Given the description of an element on the screen output the (x, y) to click on. 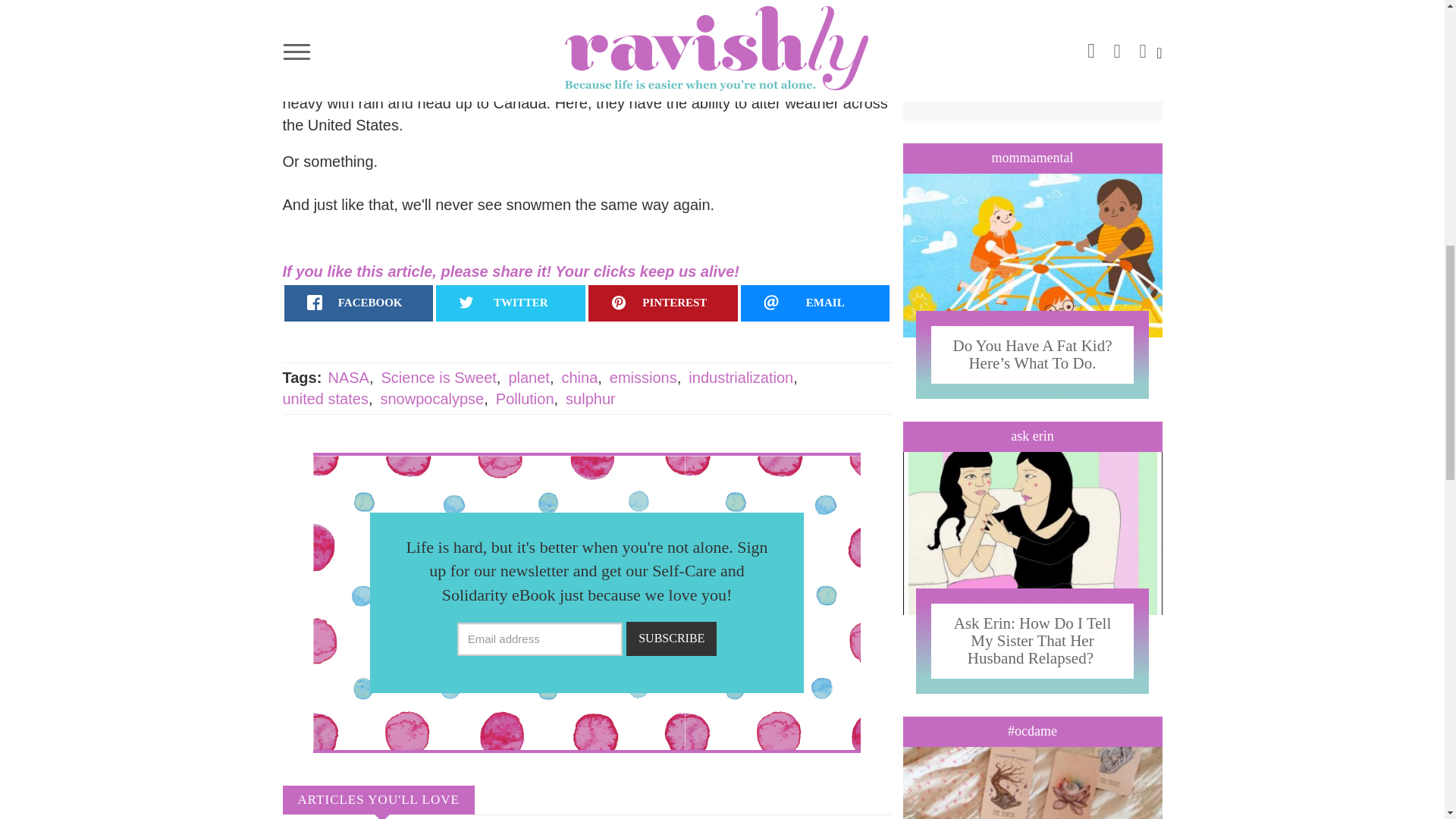
SUBSCRIBE (671, 638)
instagram (930, 12)
SUBSCRIBE (1109, 73)
